Given the description of an element on the screen output the (x, y) to click on. 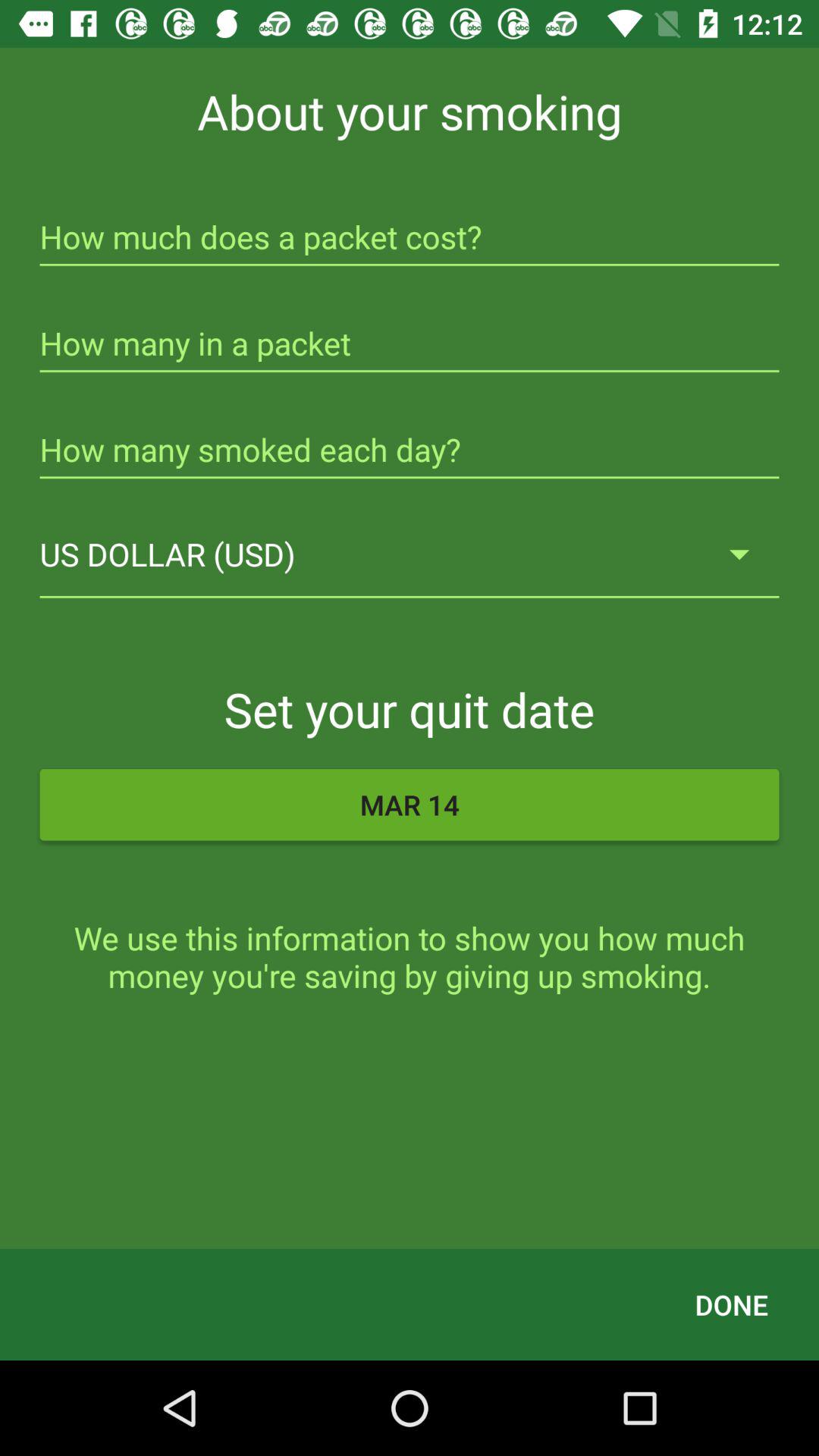
turn off the icon above we use this item (409, 804)
